Given the description of an element on the screen output the (x, y) to click on. 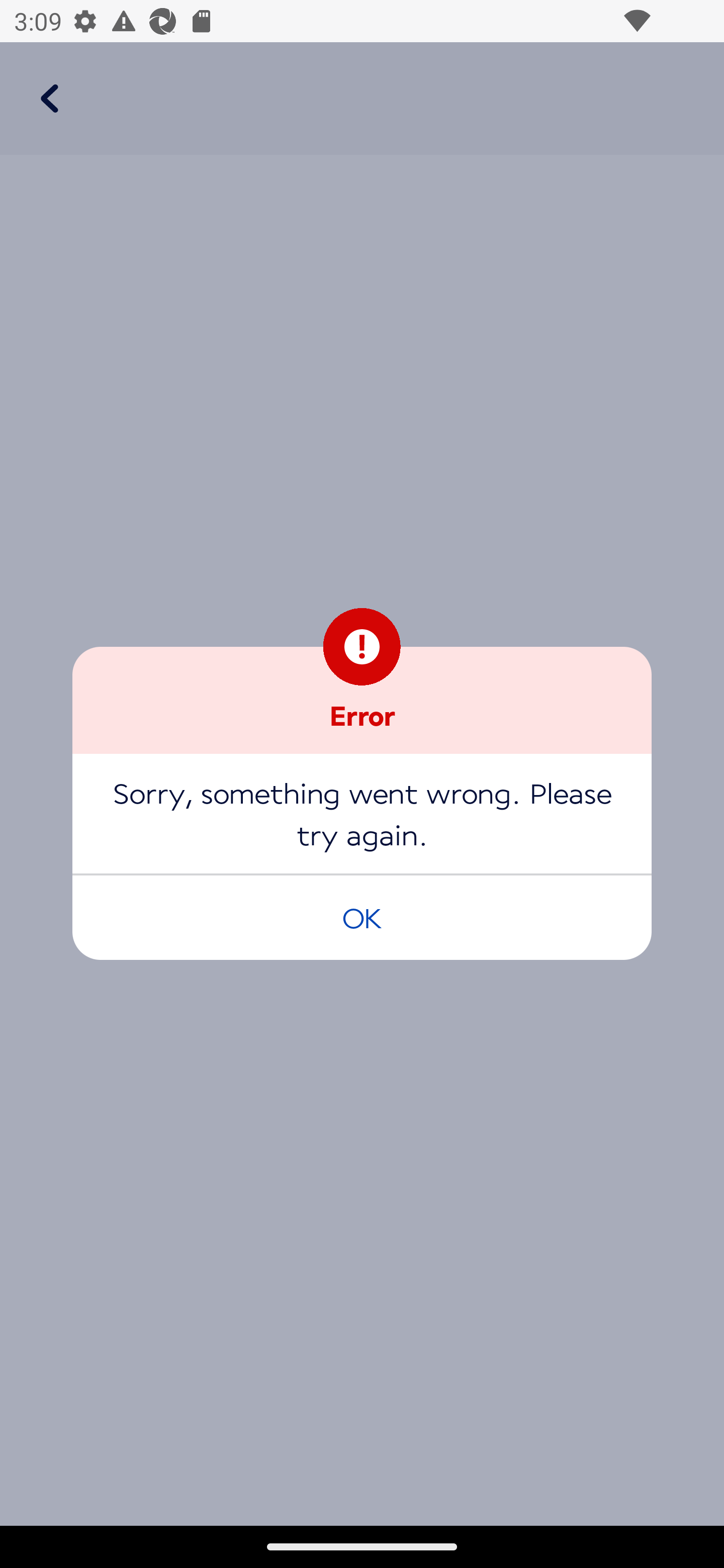
OK (361, 916)
